Given the description of an element on the screen output the (x, y) to click on. 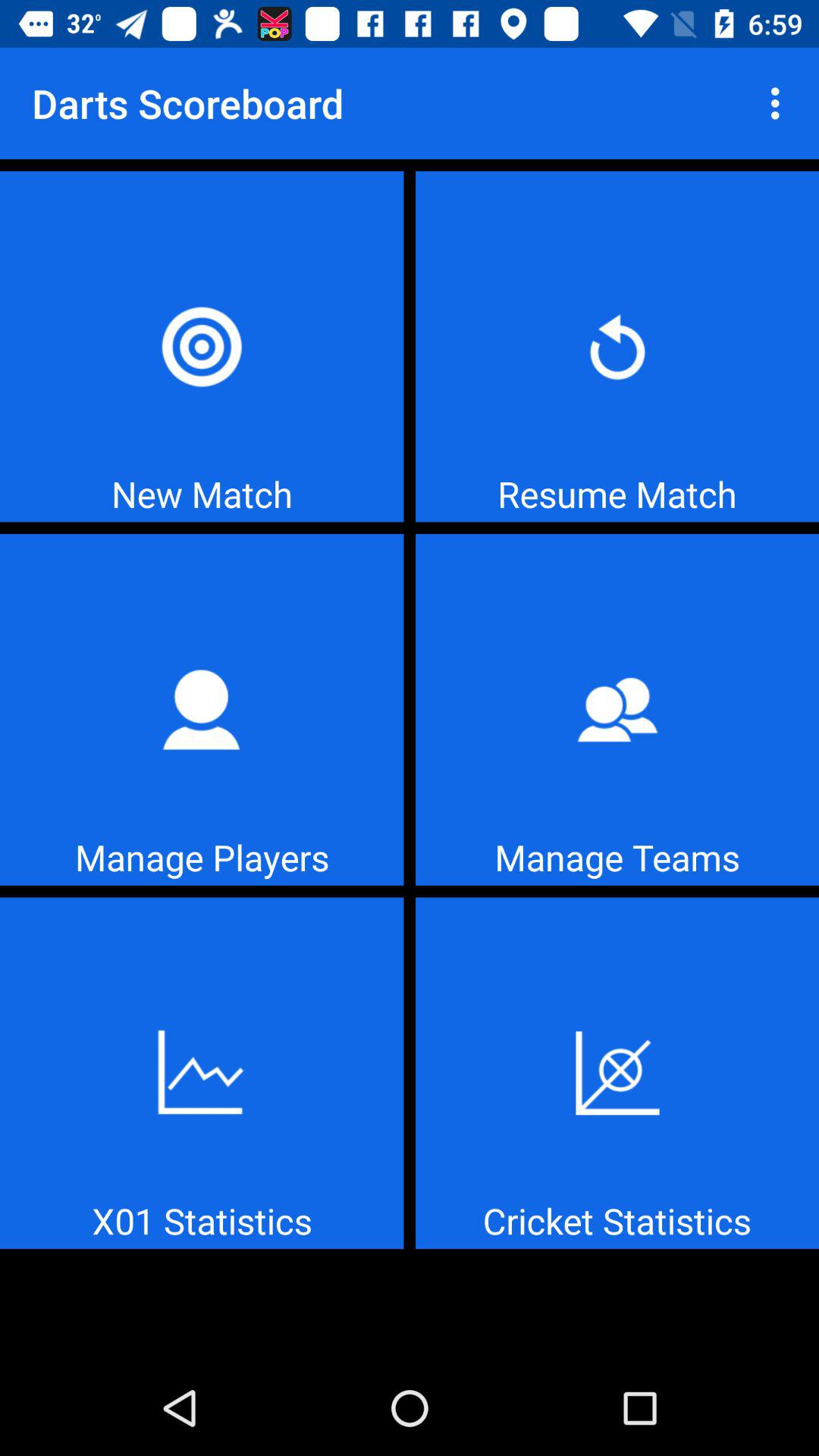
access x01 statistics (201, 1072)
